Given the description of an element on the screen output the (x, y) to click on. 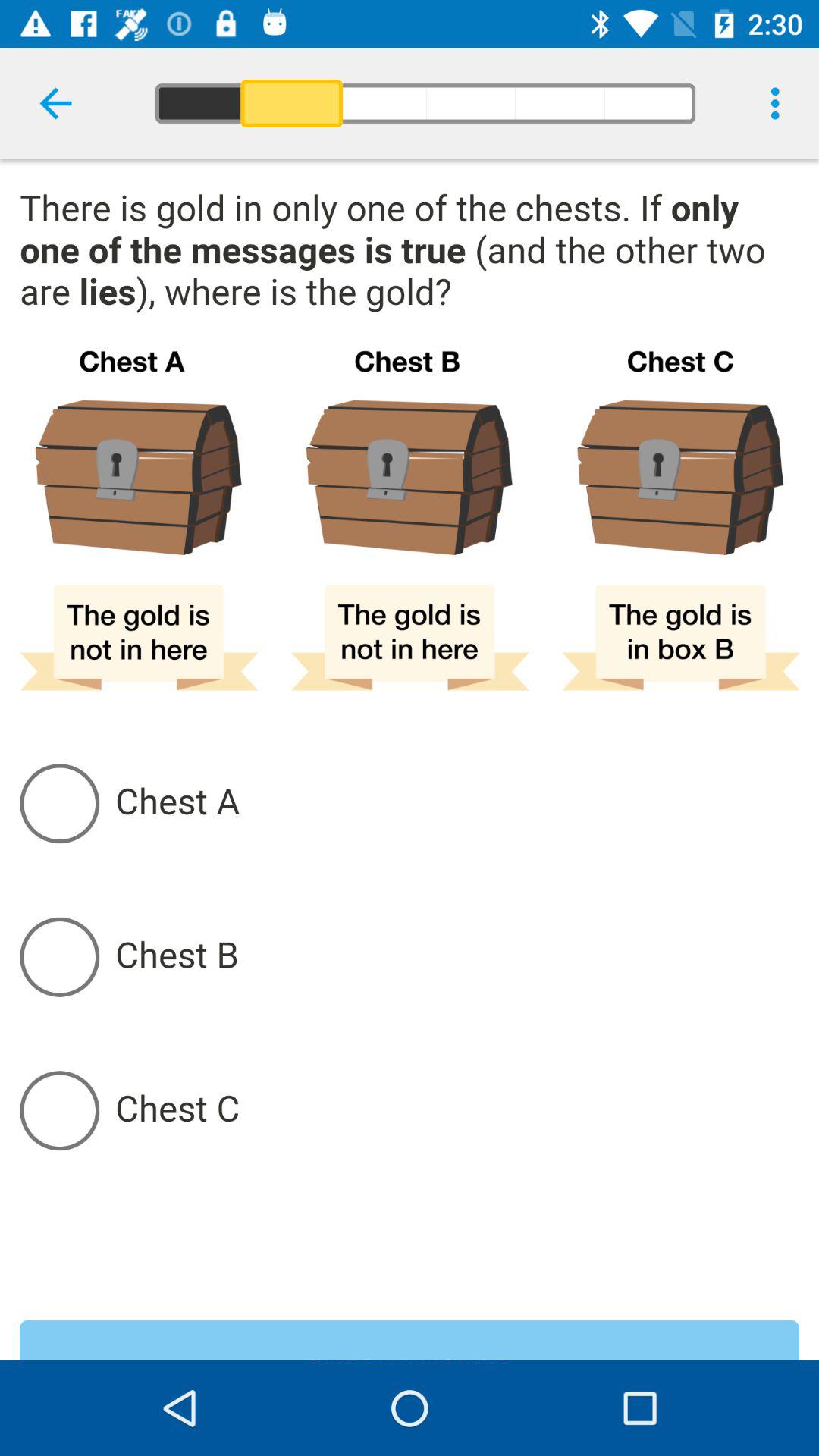
chest selection (457, 956)
